Given the description of an element on the screen output the (x, y) to click on. 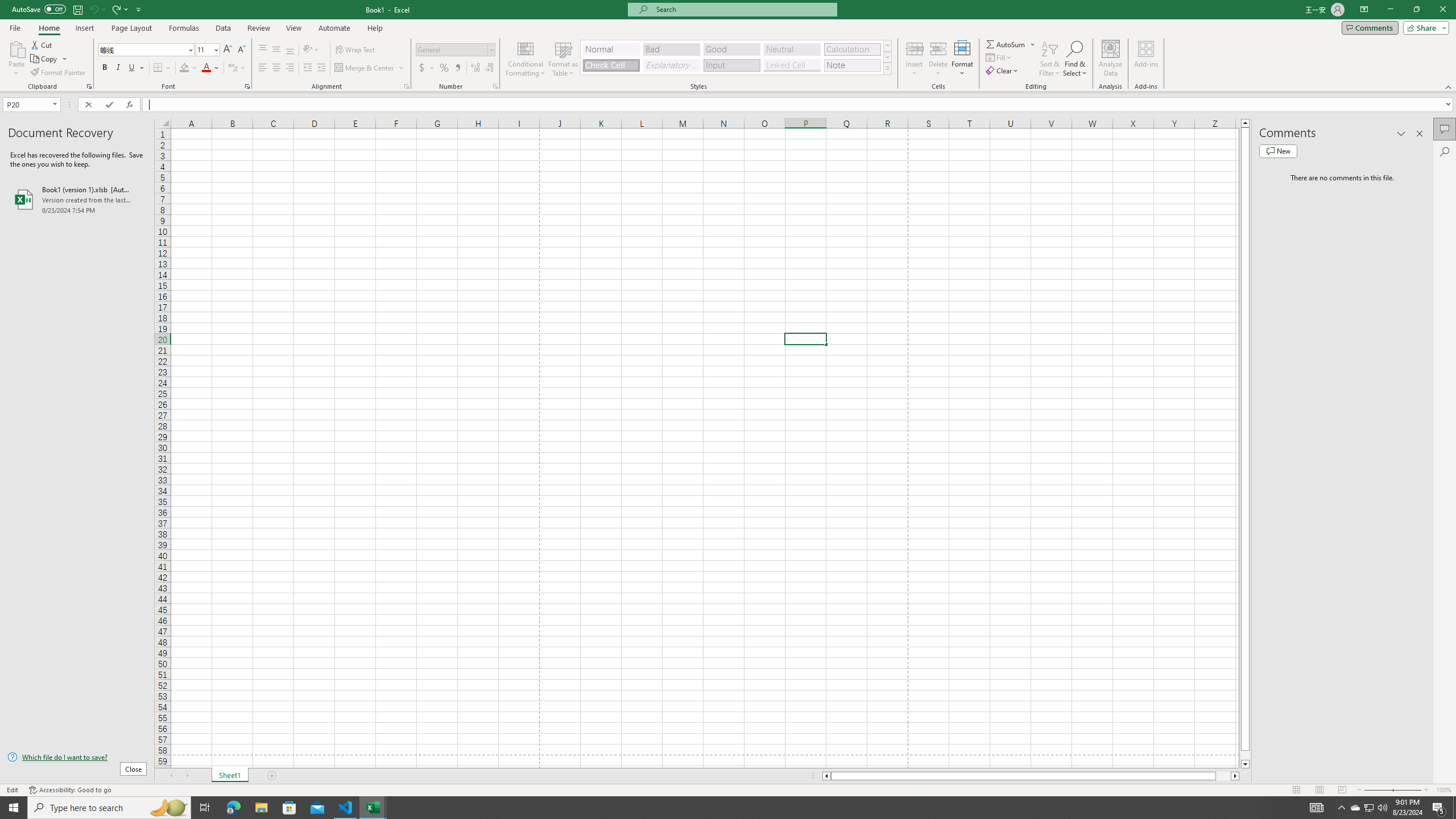
Middle Align (276, 49)
Underline (136, 67)
Center (276, 67)
Font (142, 49)
Neutral (791, 49)
Bad (671, 49)
Copy (49, 58)
Check Cell (611, 65)
